Given the description of an element on the screen output the (x, y) to click on. 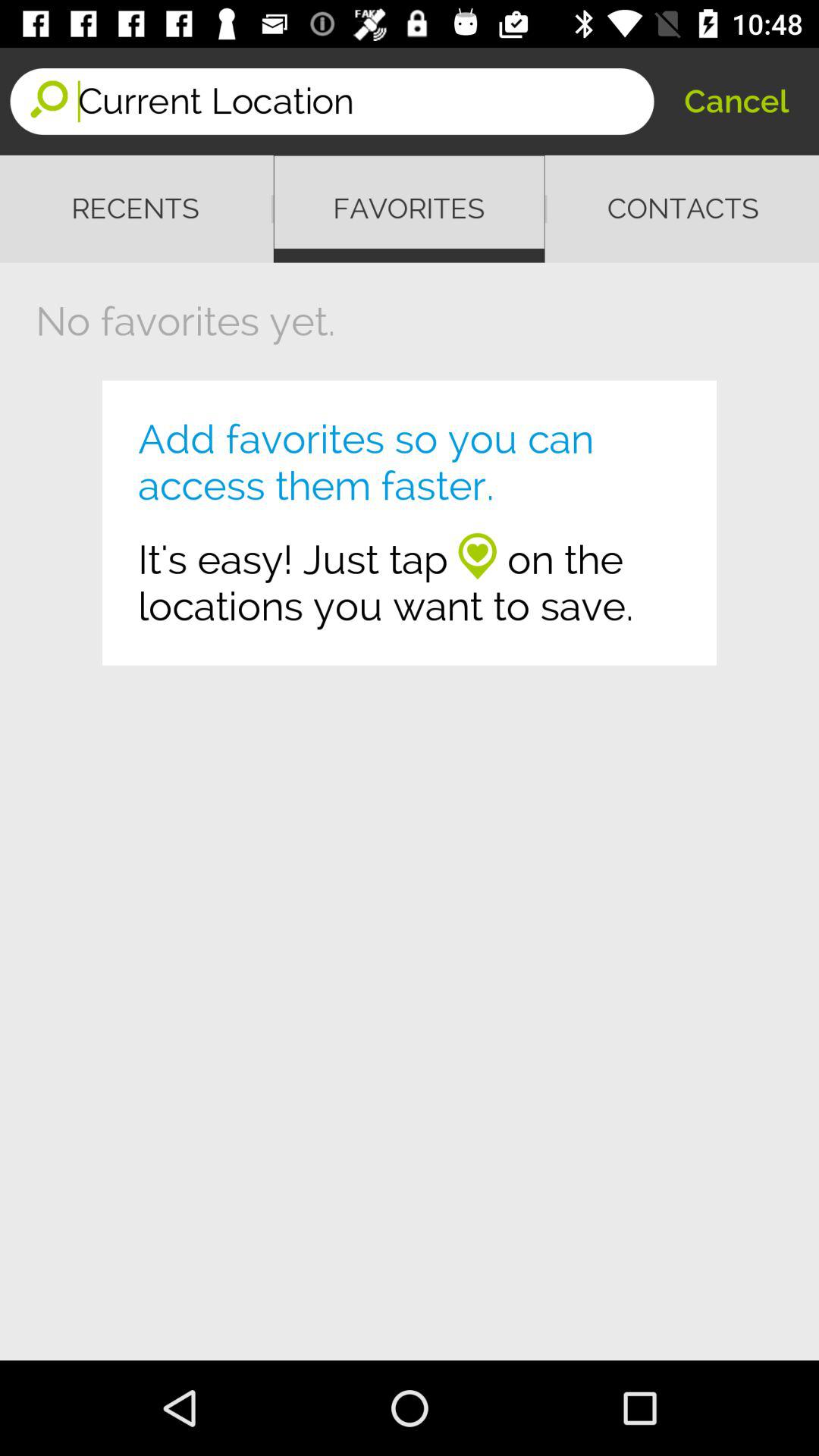
turn on icon above recents item (365, 101)
